Given the description of an element on the screen output the (x, y) to click on. 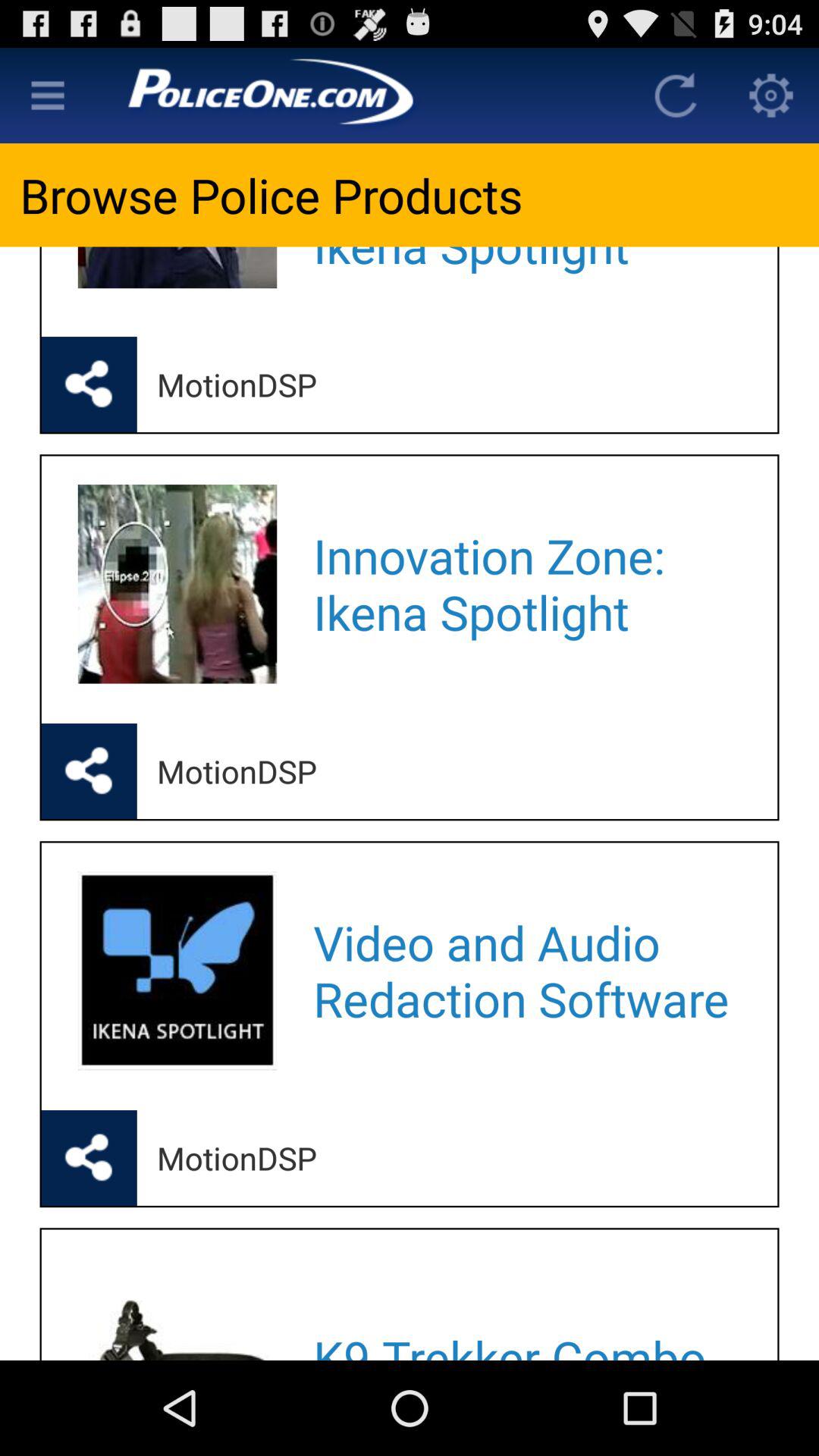
look for other items (47, 95)
